Given the description of an element on the screen output the (x, y) to click on. 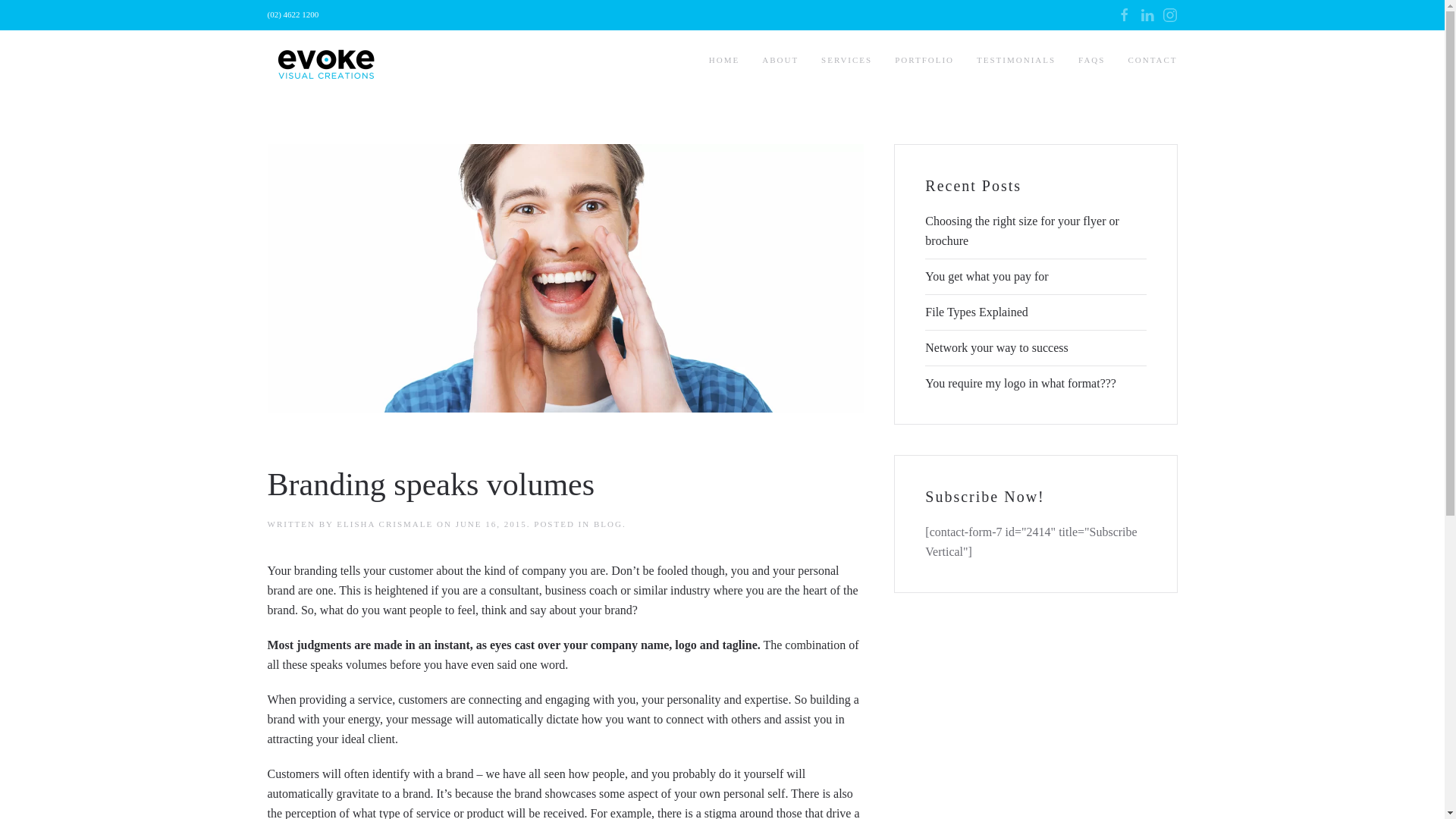
Network your way to success (995, 347)
BLOG (608, 523)
You get what you pay for (986, 276)
Choosing the right size for your flyer or brochure (1021, 230)
CONTACT (1152, 60)
ABOUT (780, 60)
TESTIMONIALS (1016, 60)
You require my logo in what format??? (1020, 382)
PORTFOLIO (924, 60)
SERVICES (846, 60)
File Types Explained (975, 311)
ELISHA CRISMALE (384, 523)
